Given the description of an element on the screen output the (x, y) to click on. 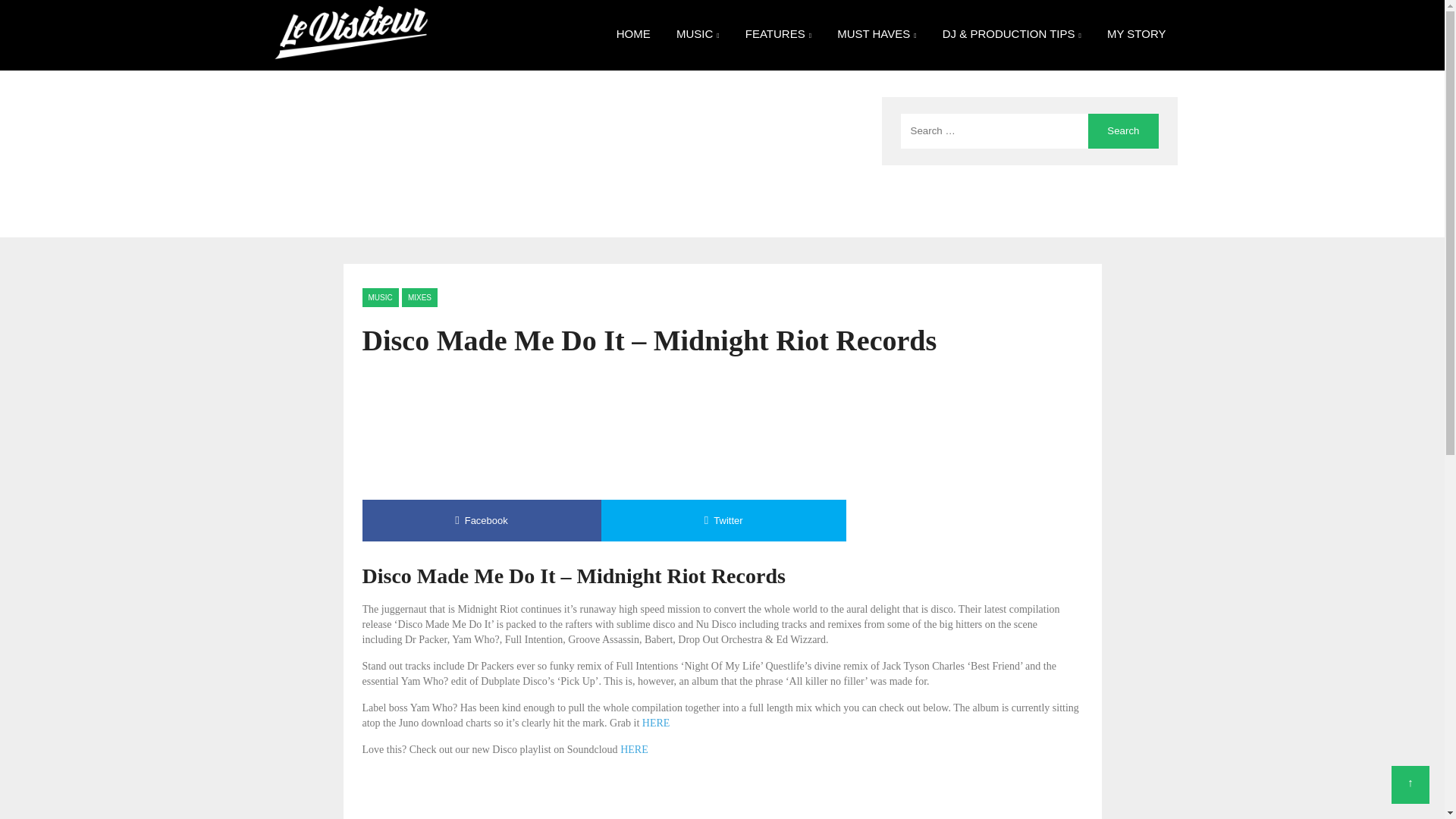
FEATURES (777, 34)
Search (1122, 130)
MUSIC (380, 297)
Search (1122, 130)
MUSIC (697, 34)
Twitter (723, 520)
HERE (633, 749)
Le Visiteur Online (349, 9)
MUST HAVES (876, 34)
Search (1122, 130)
MY STORY (1136, 33)
MIXES (419, 297)
Facebook (481, 520)
HERE (655, 722)
